Given the description of an element on the screen output the (x, y) to click on. 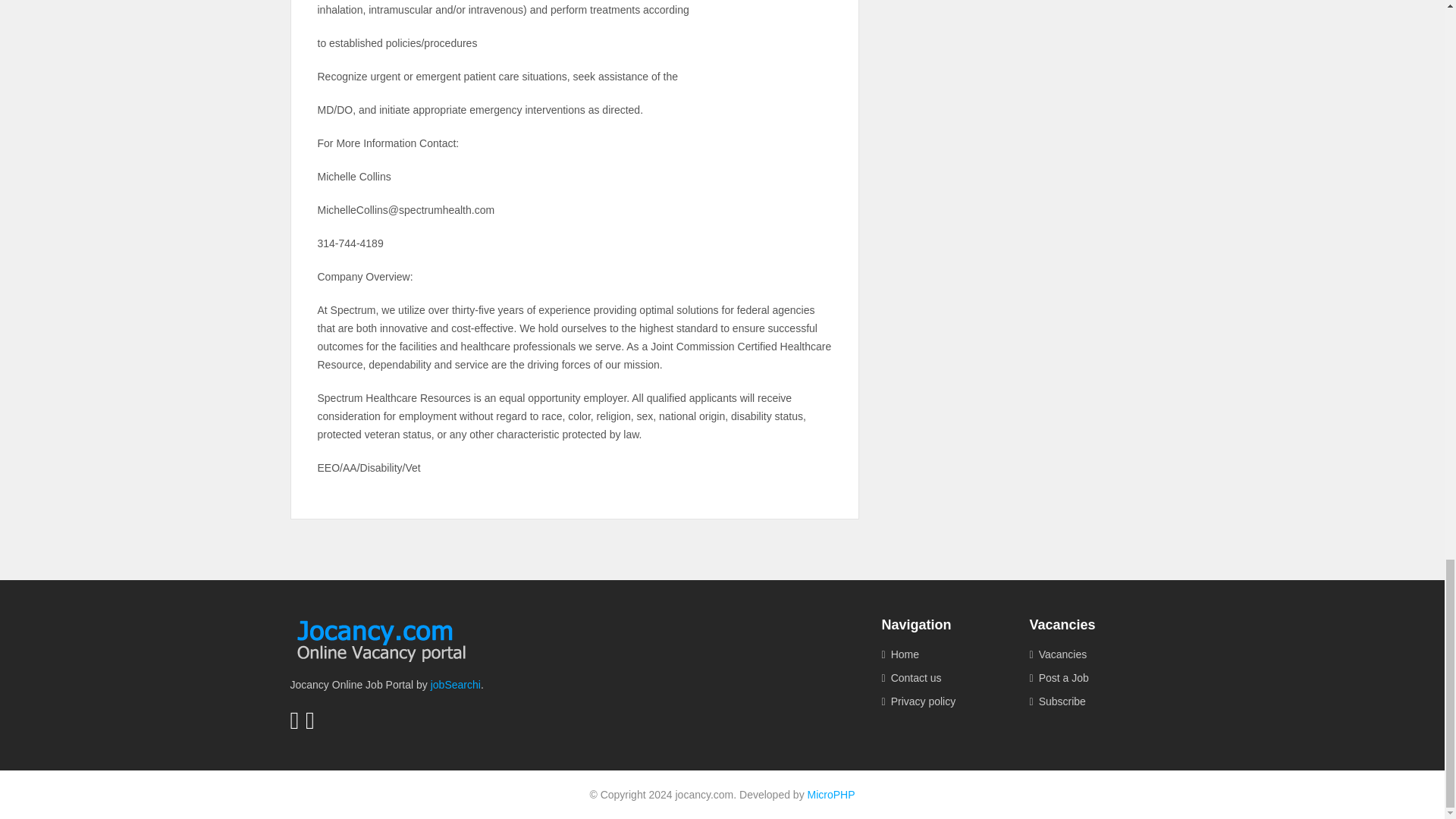
Home (943, 654)
Vacancies (1091, 654)
MicroPHP (832, 794)
jobSearchi (455, 684)
Privacy policy (943, 701)
Post a Job (1091, 678)
Subscribe (1091, 701)
Contact us (943, 678)
